Given the description of an element on the screen output the (x, y) to click on. 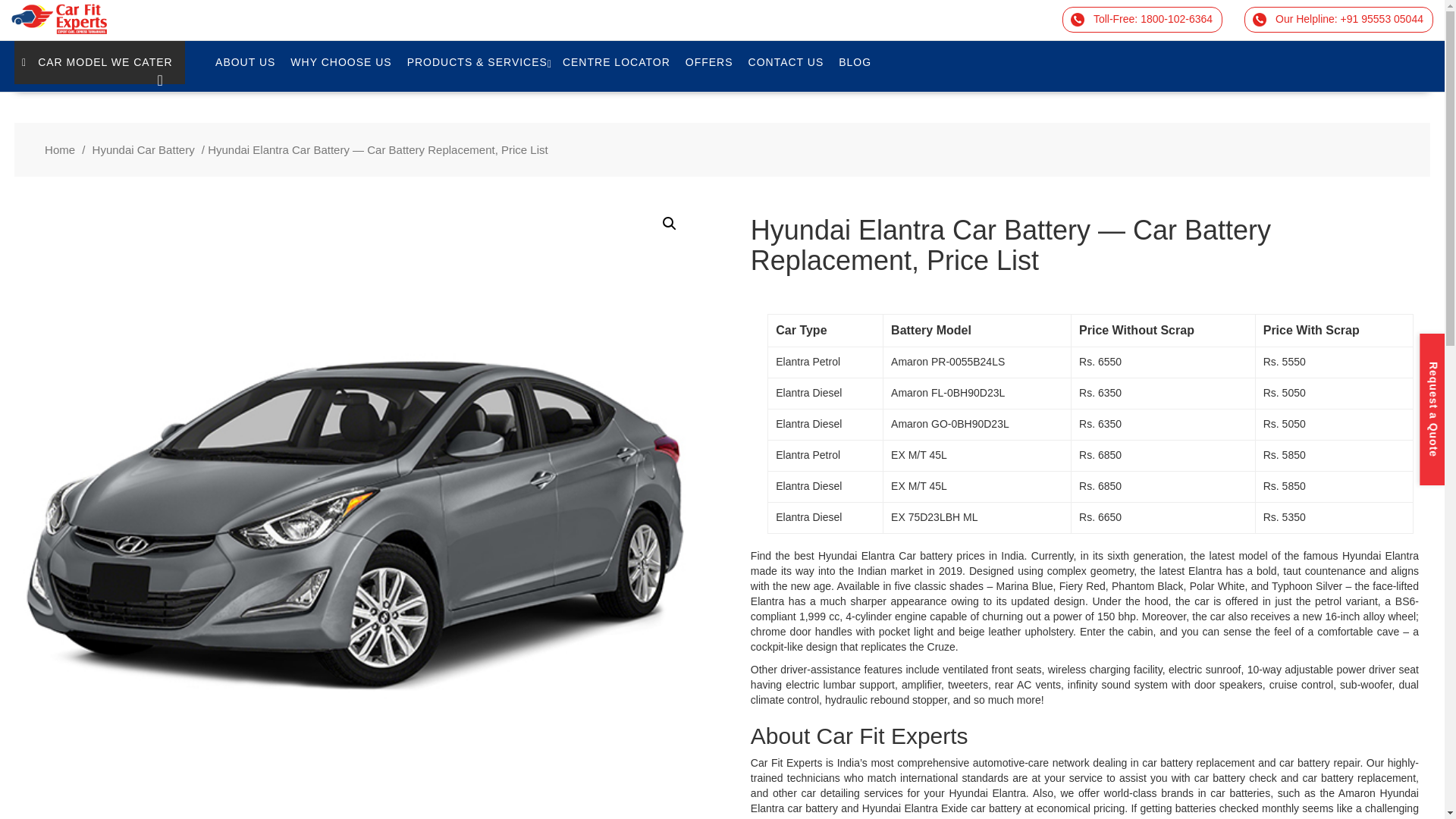
Toll-Free: 1800-102-6364 (1142, 19)
CAR MODEL WE CATER (99, 62)
